Given the description of an element on the screen output the (x, y) to click on. 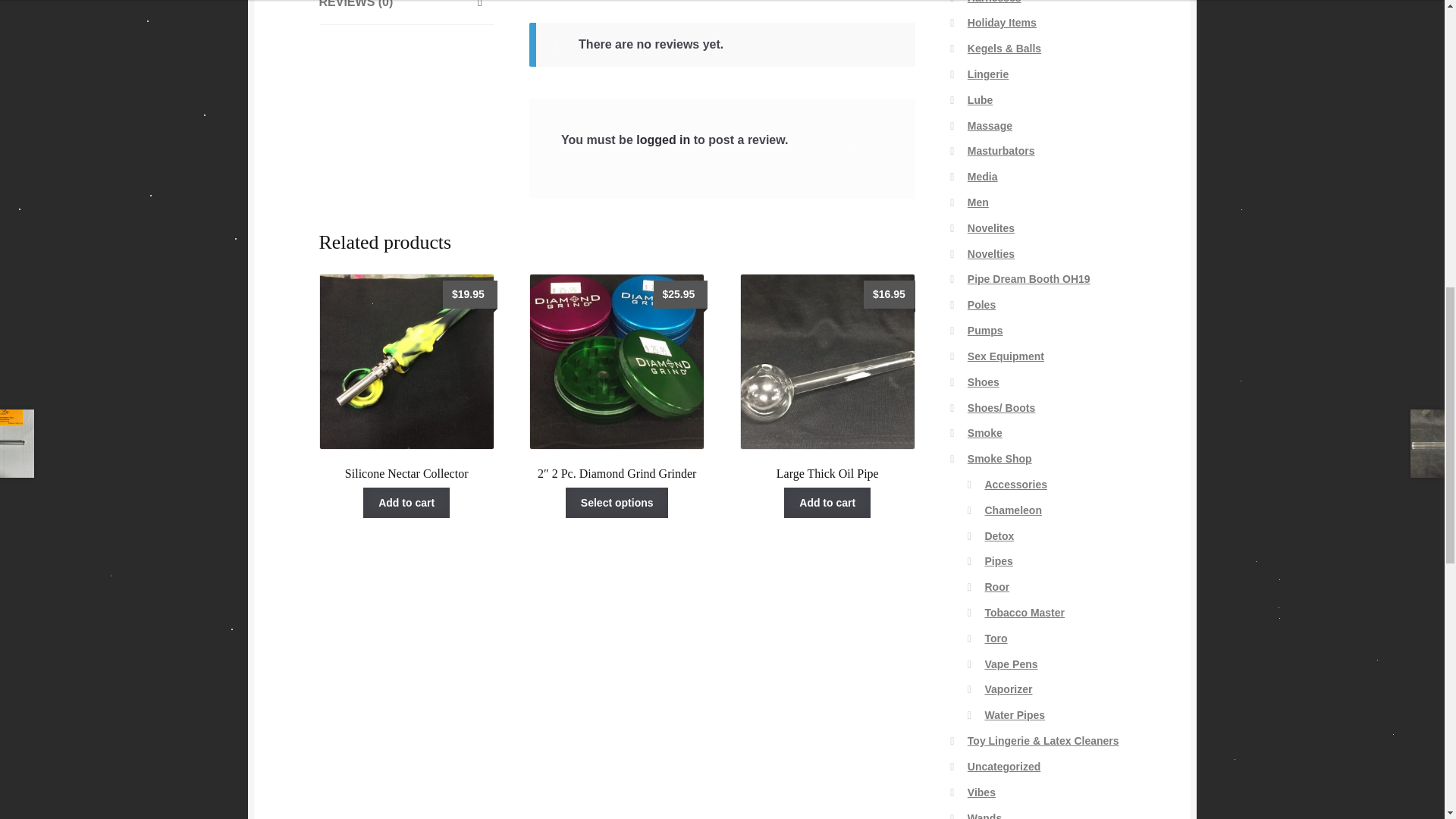
Add to cart (405, 502)
Add to cart (827, 502)
logged in (663, 139)
Select options (617, 502)
